Given the description of an element on the screen output the (x, y) to click on. 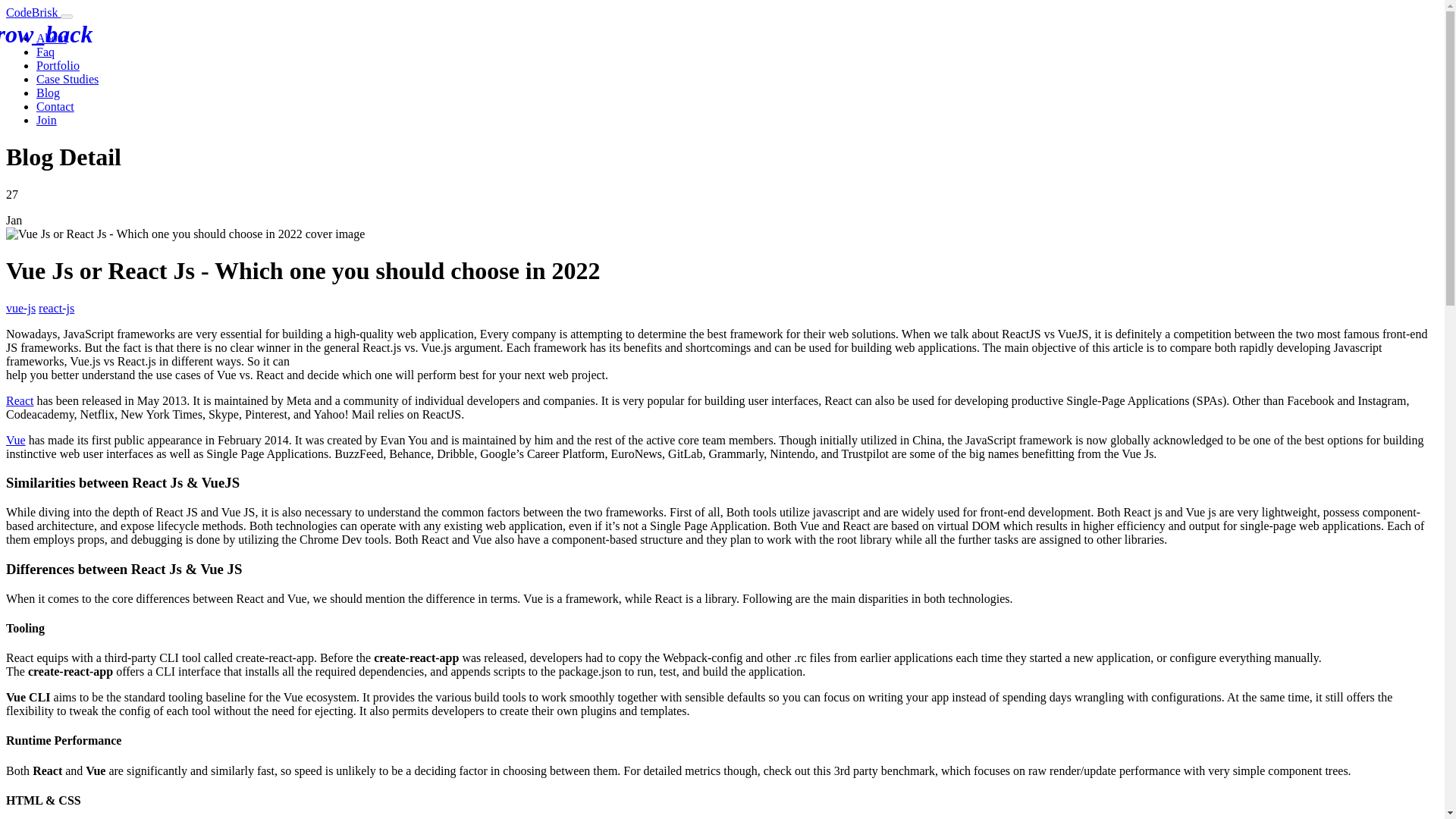
react-js (56, 308)
Vue (15, 440)
View posts in react-js (56, 308)
View posts in vue-js (19, 308)
CodeBrisk (33, 11)
vue-js (19, 308)
React (19, 400)
CodeBrisk (33, 11)
